Given the description of an element on the screen output the (x, y) to click on. 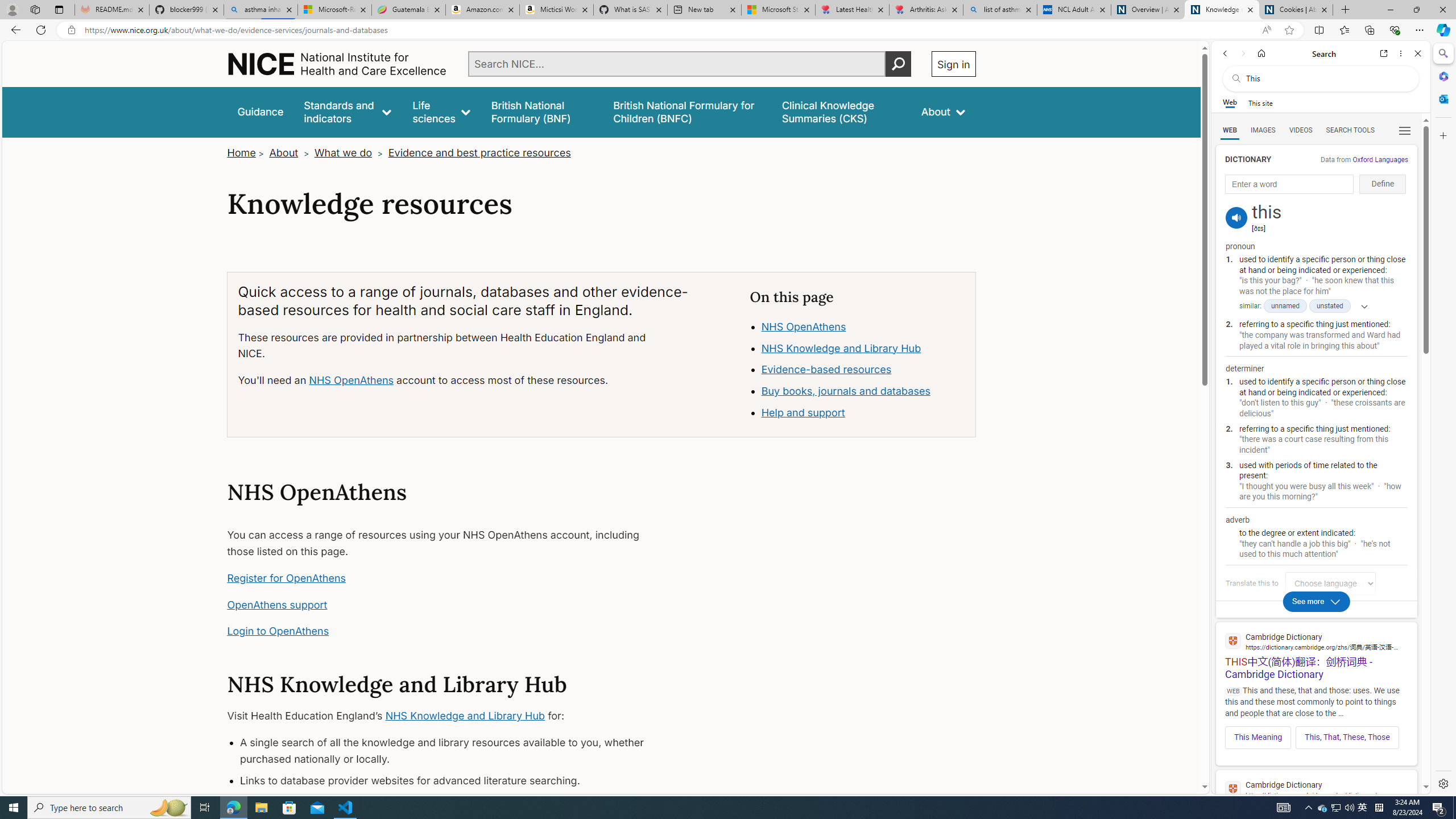
This Meaning (1257, 737)
pronounce (1236, 217)
